Given the description of an element on the screen output the (x, y) to click on. 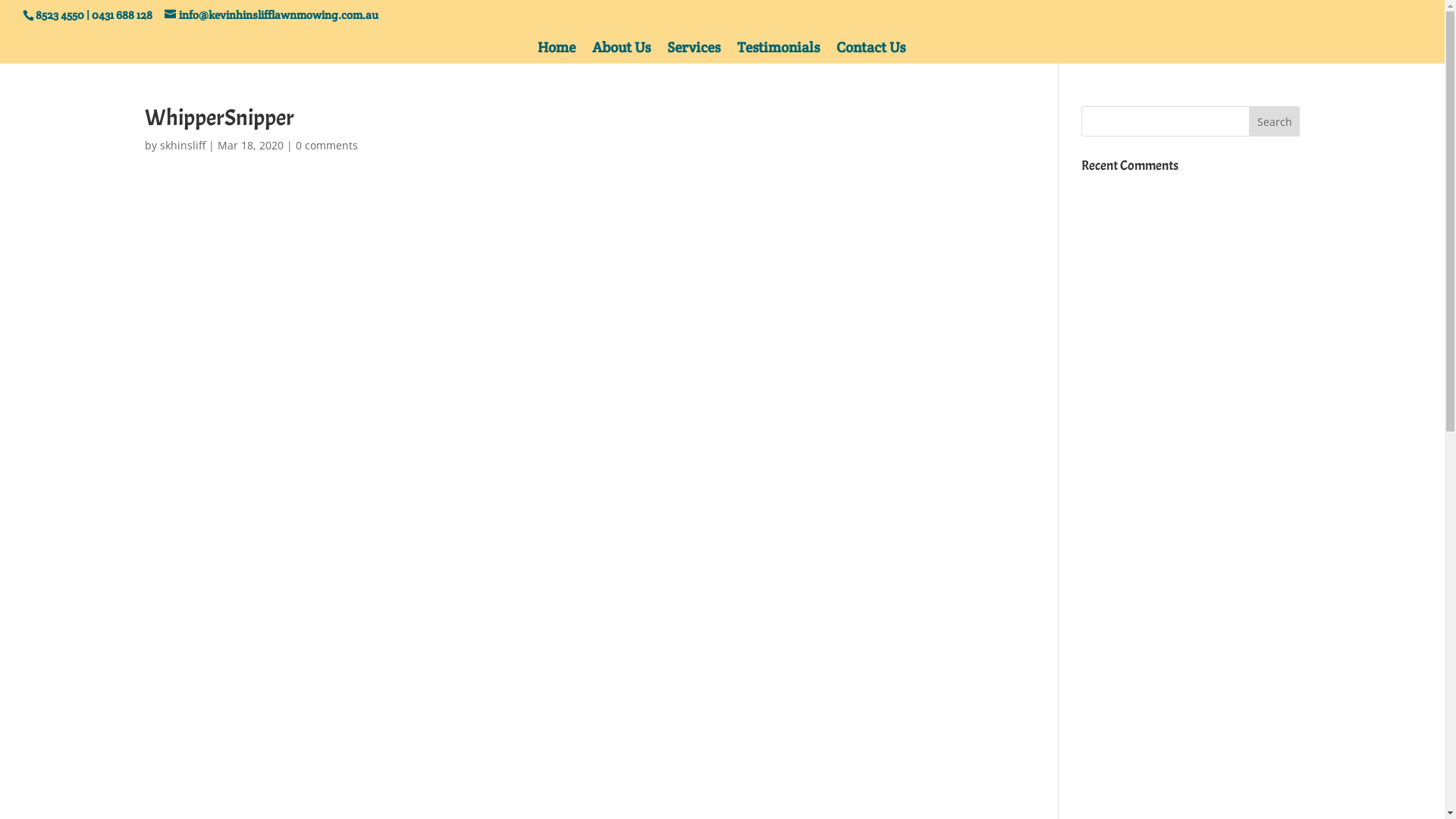
Services Element type: text (693, 51)
About Us Element type: text (621, 51)
Contact Us Element type: text (870, 51)
skhinsliff Element type: text (181, 145)
Home Element type: text (556, 51)
info@kevinhinslifflawnmowing.com.au Element type: text (271, 14)
Testimonials Element type: text (778, 51)
0 comments Element type: text (326, 145)
Search Element type: text (1274, 121)
